Given the description of an element on the screen output the (x, y) to click on. 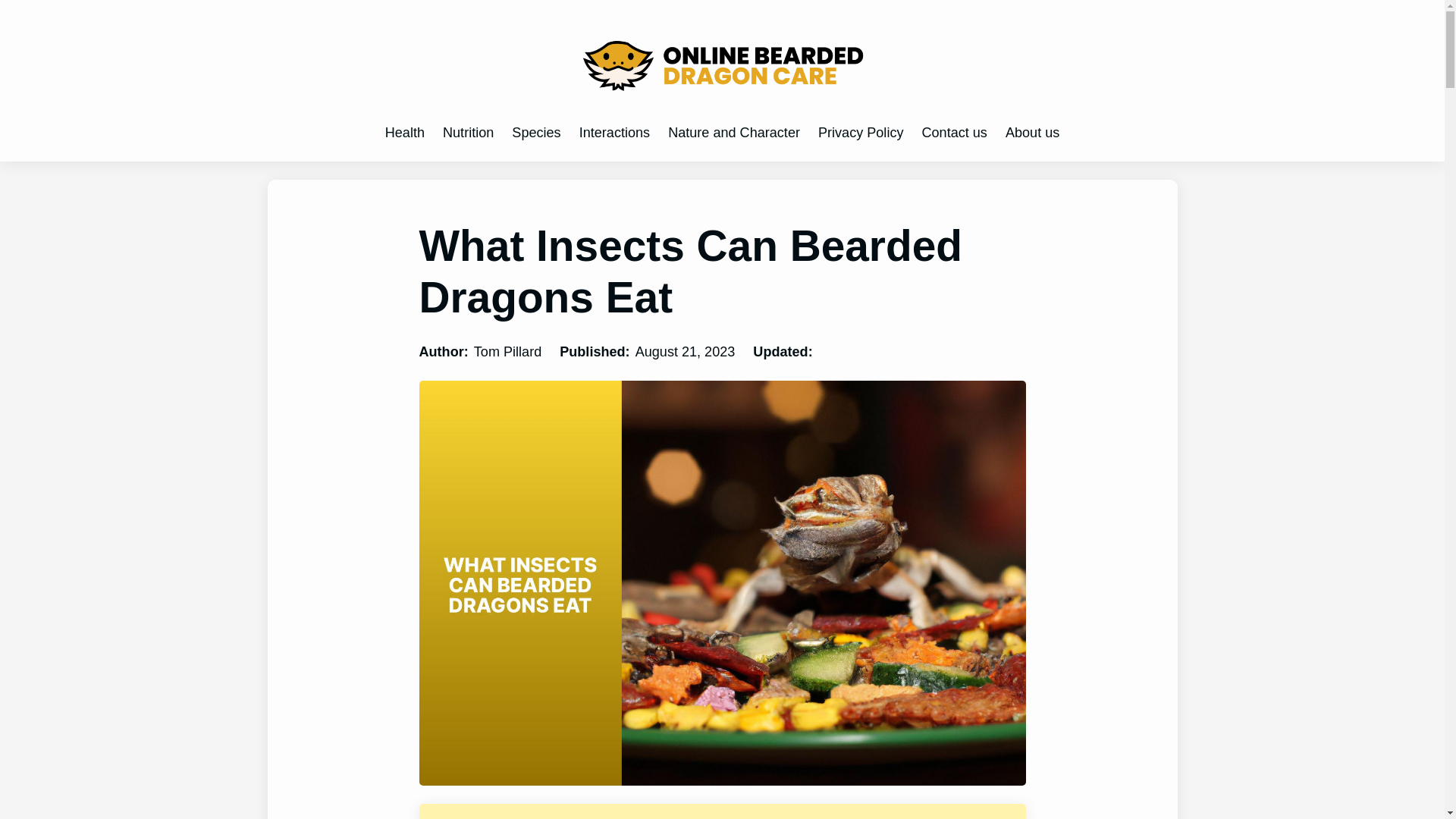
About us (1032, 132)
Nutrition (467, 132)
Interactions (614, 132)
Contact us (954, 132)
Privacy Policy (861, 132)
Species (536, 132)
Health (405, 132)
Nature and Character (733, 132)
